Given the description of an element on the screen output the (x, y) to click on. 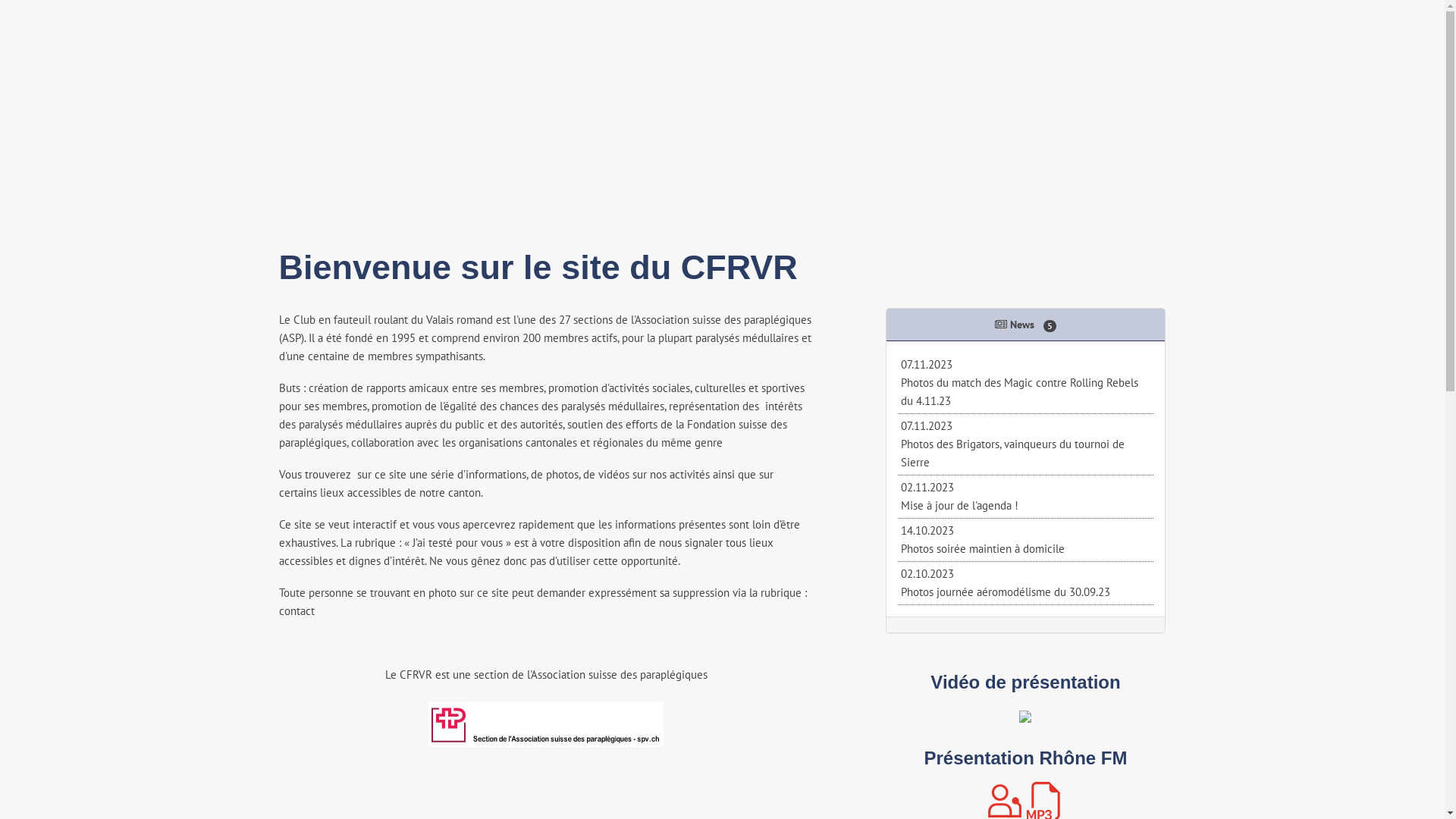
Photos des Brigators, vainqueurs du tournoi de Sierre Element type: text (1012, 452)
Photos du match des Magic contre Rolling Rebels du 4.11.23 Element type: text (1019, 391)
